Given the description of an element on the screen output the (x, y) to click on. 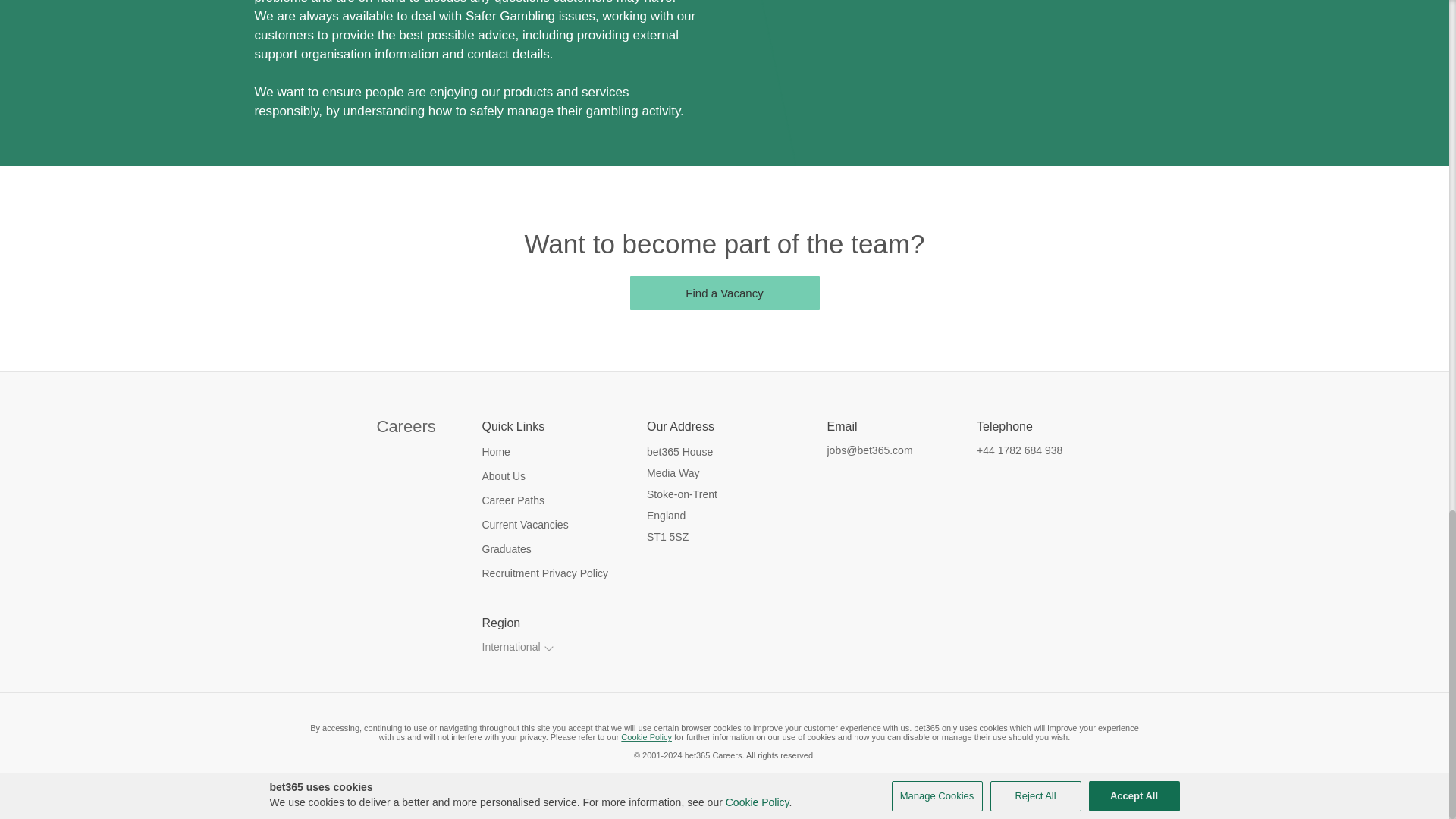
Recruitment Privacy Policy (564, 573)
About Us (564, 476)
Home (564, 451)
Graduates (564, 549)
Current Vacancies (564, 524)
International (518, 646)
Cookie Policy (646, 737)
Find a Vacancy (723, 293)
Career Paths (564, 500)
